Given the description of an element on the screen output the (x, y) to click on. 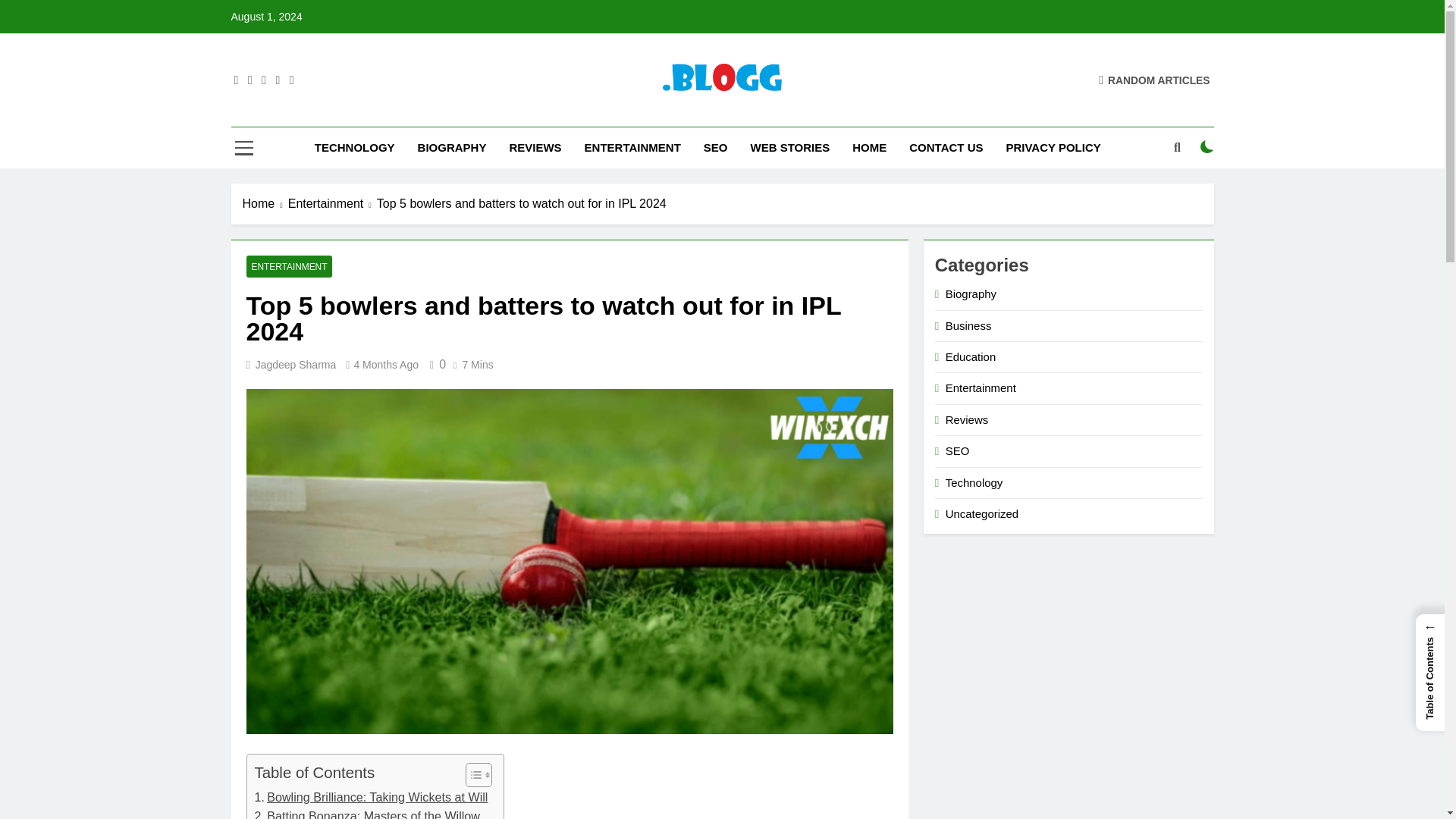
REVIEWS (534, 147)
BIOGRAPHY (451, 147)
TECHNOLOGY (354, 147)
on (1206, 146)
HOME (869, 147)
4 Months Ago (386, 364)
ENTERTAINMENT (633, 147)
WEB STORIES (789, 147)
PRIVACY POLICY (1053, 147)
ENTERTAINMENT (288, 266)
Entertainment (332, 203)
 Bowling Brilliance: Taking Wickets at Will (370, 797)
Blogg (522, 112)
Jagdeep Sharma (296, 364)
SEO (716, 147)
